Given the description of an element on the screen output the (x, y) to click on. 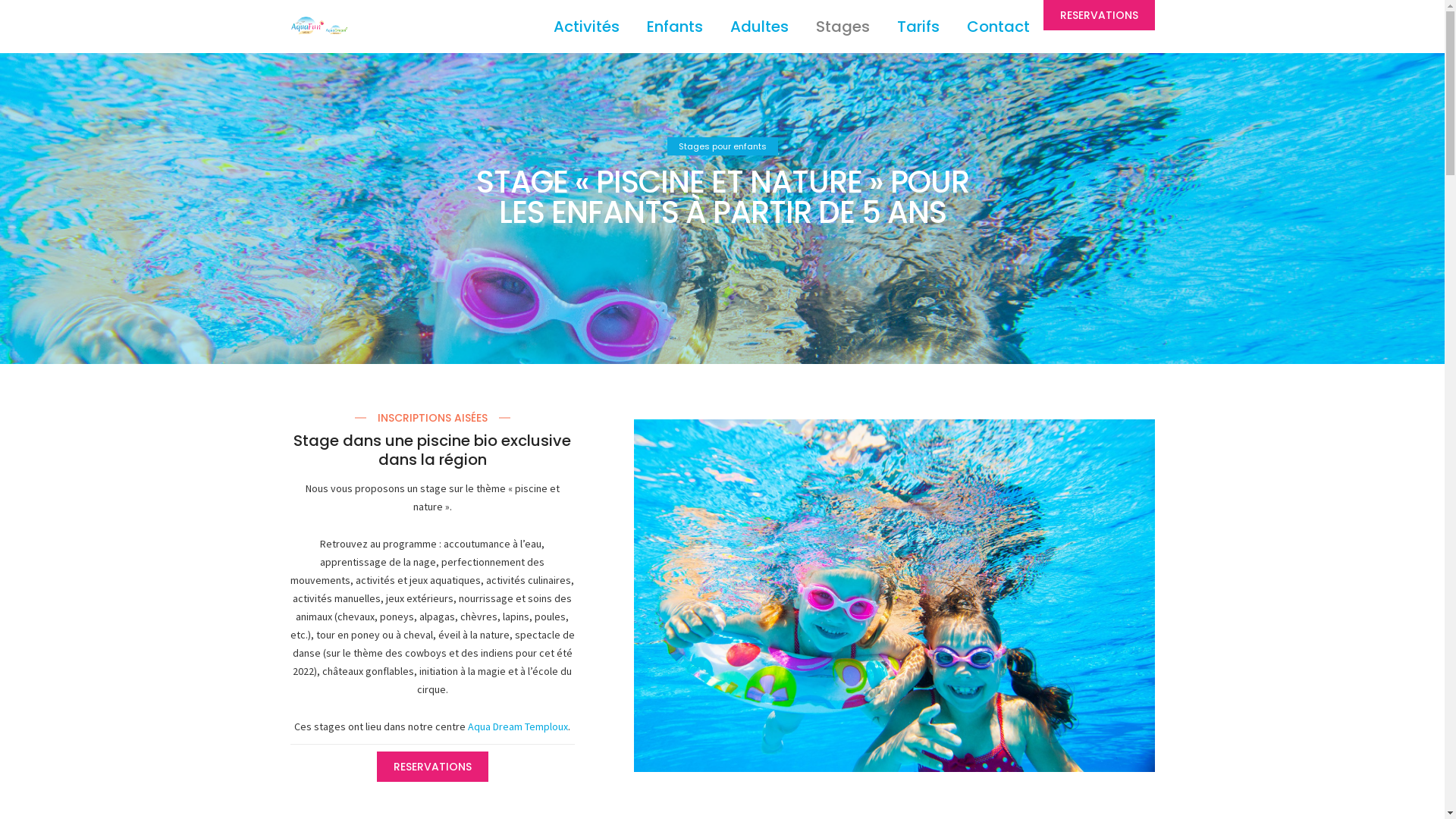
RESERVATIONS Element type: text (431, 766)
Adultes Element type: text (758, 26)
Aqua Fun Meux Element type: hover (318, 27)
Tarifs Element type: text (917, 26)
Enfants Element type: text (673, 26)
Stages Element type: text (842, 26)
Aqua Dream Temploux Element type: text (517, 726)
Pragmacom Element type: text (1134, 787)
Contact Element type: text (997, 26)
RESERVATIONS Element type: text (1098, 15)
